Given the description of an element on the screen output the (x, y) to click on. 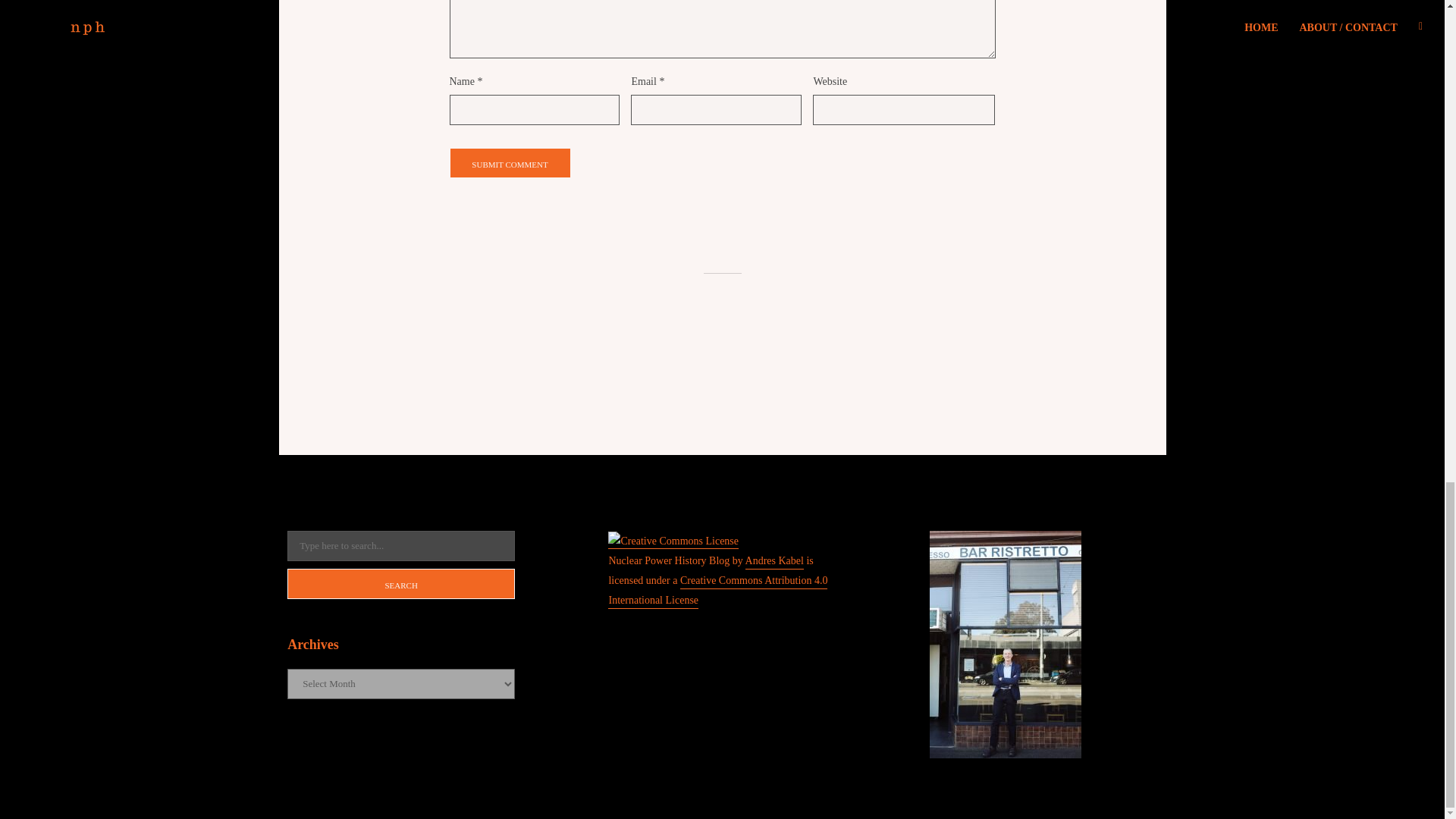
Submit Comment (509, 163)
Submit Comment (509, 163)
Creative Commons Attribution 4.0 International License (717, 591)
SEARCH (400, 583)
Andres Kabel (774, 562)
